Given the description of an element on the screen output the (x, y) to click on. 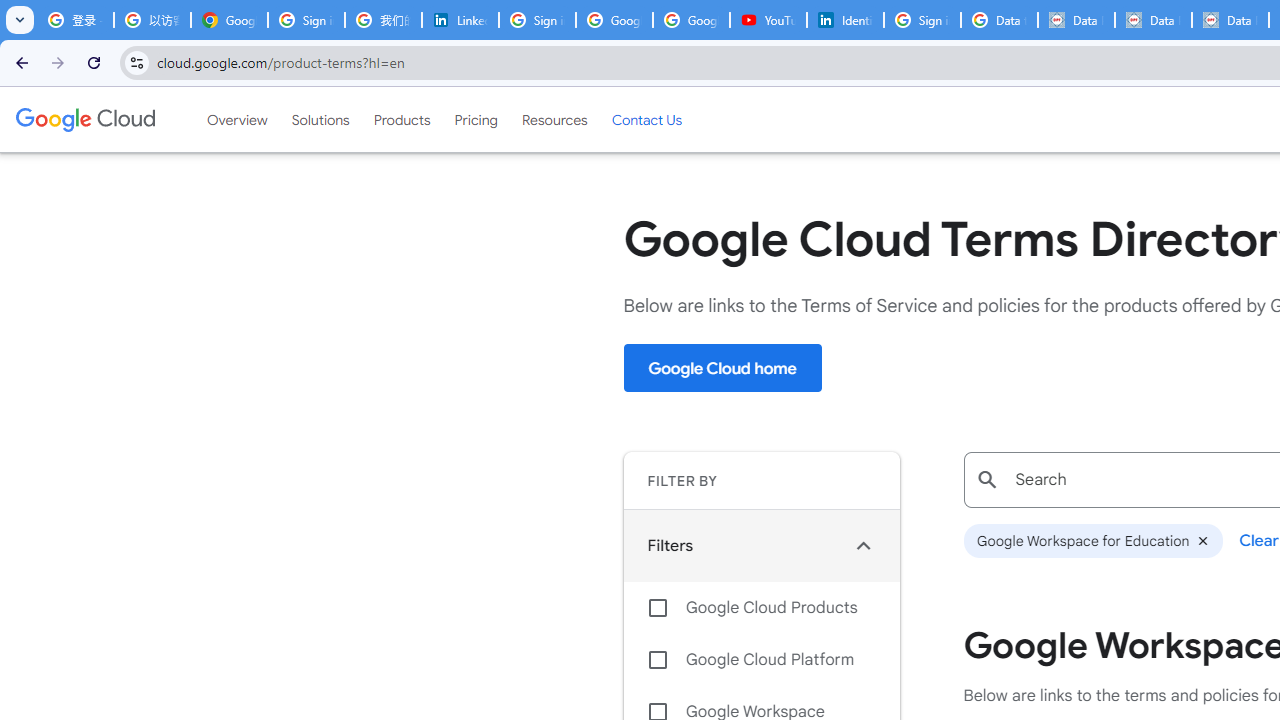
Resources (553, 119)
Google Cloud Platform (761, 660)
Filters keyboard_arrow_up (761, 545)
Pricing (476, 119)
Google Cloud (84, 119)
Contact Us (646, 119)
LinkedIn Privacy Policy (460, 20)
Sign in - Google Accounts (306, 20)
